Given the description of an element on the screen output the (x, y) to click on. 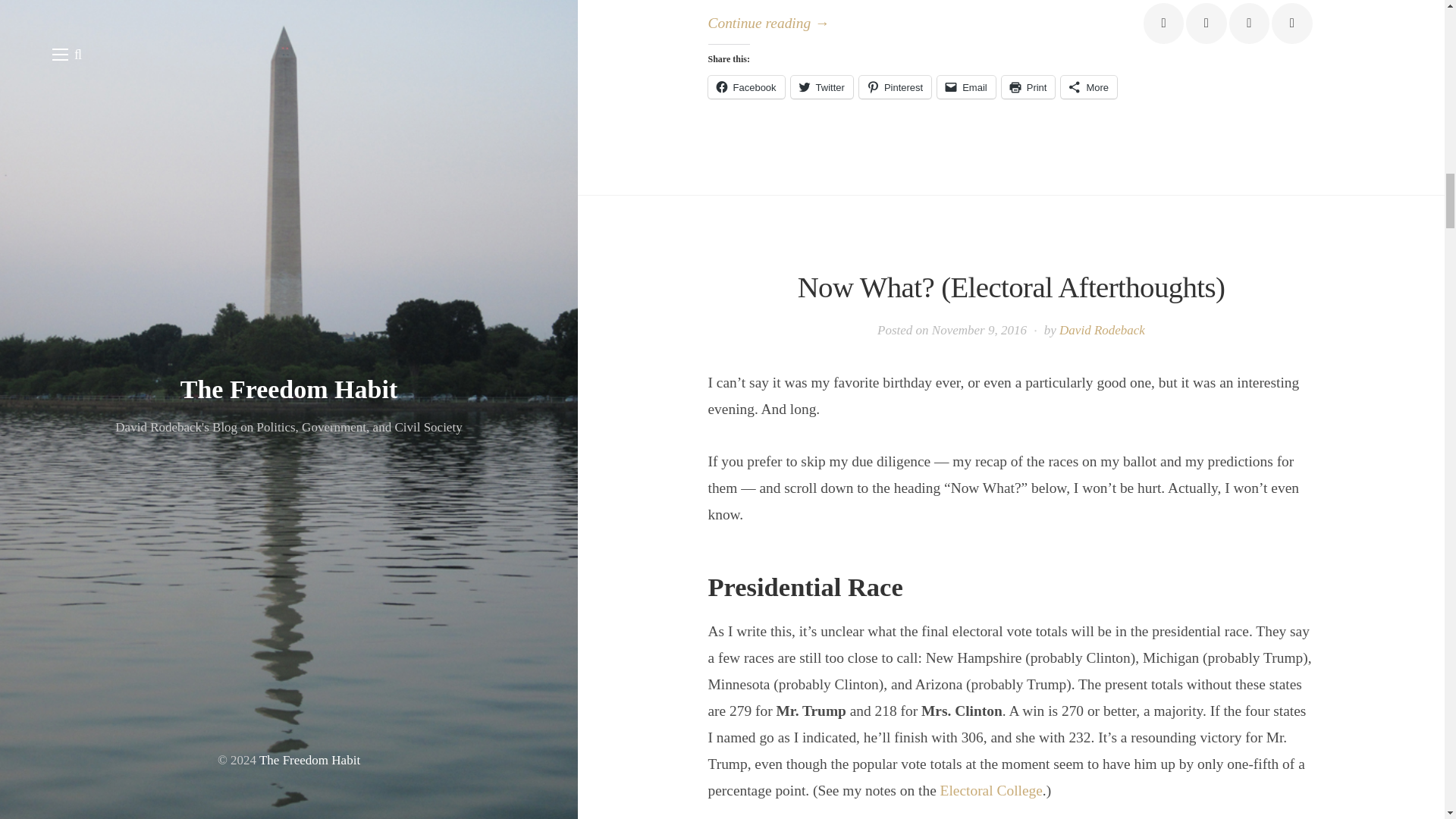
Share on Facebook (1162, 23)
Tweet It (1205, 23)
